Given the description of an element on the screen output the (x, y) to click on. 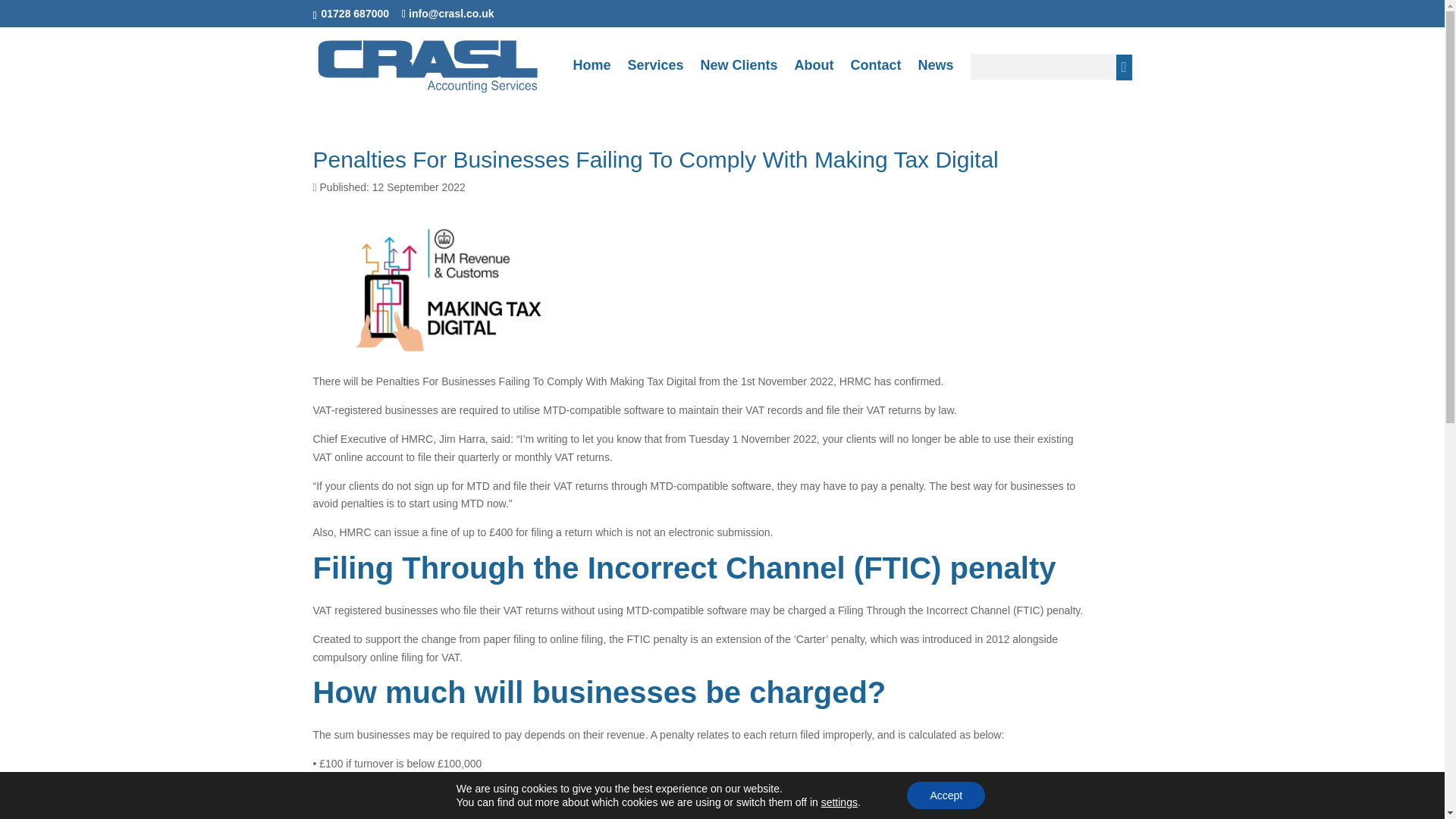
About (814, 77)
Home (591, 77)
Services (654, 77)
New Clients (738, 77)
News (935, 77)
Contact (875, 77)
